Given the description of an element on the screen output the (x, y) to click on. 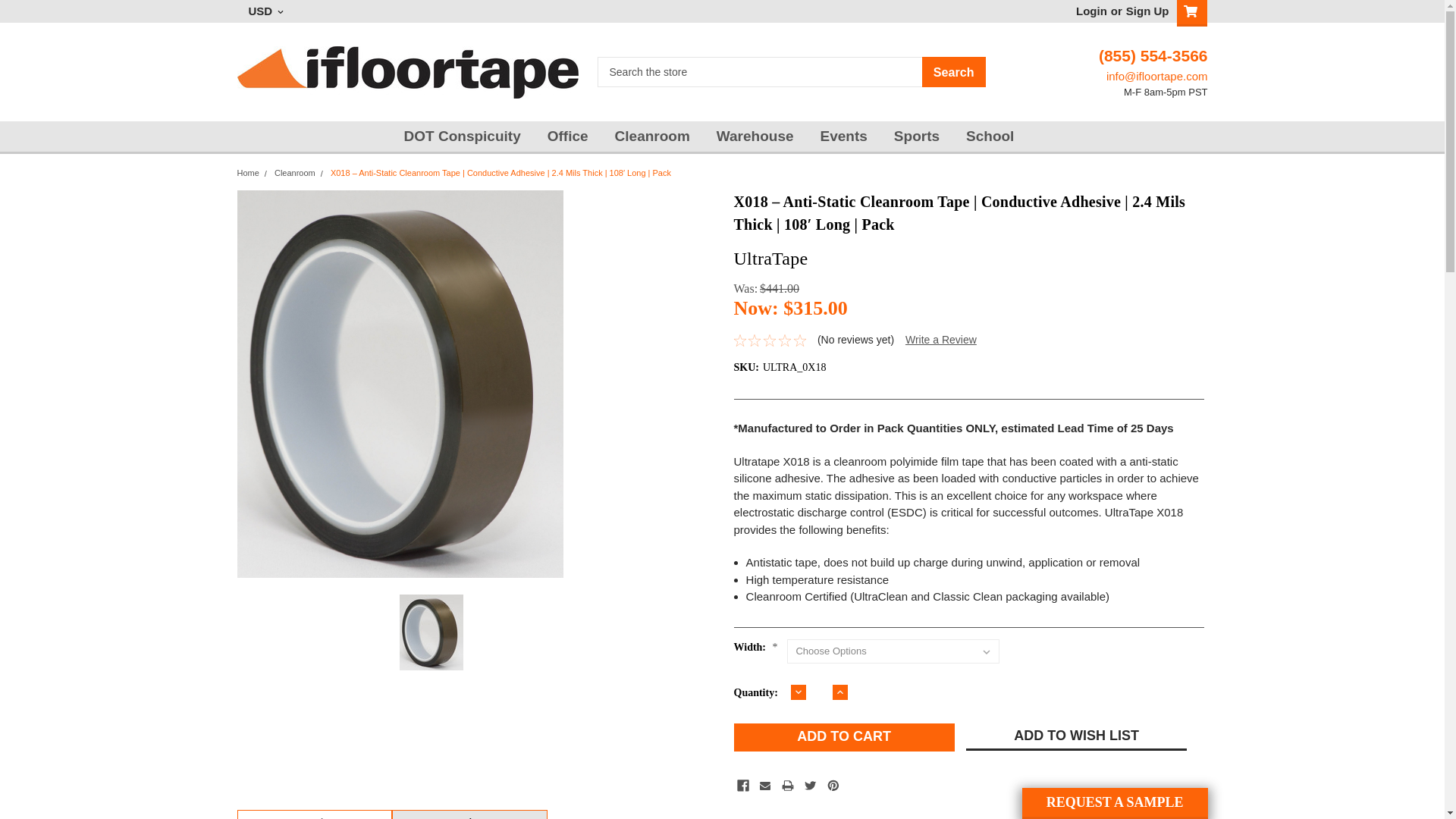
ifloortape (406, 71)
Login (1090, 11)
Currency Selector (265, 11)
Add to Cart (844, 737)
USD (265, 11)
1 (818, 693)
Sign Up (1145, 11)
